Given the description of an element on the screen output the (x, y) to click on. 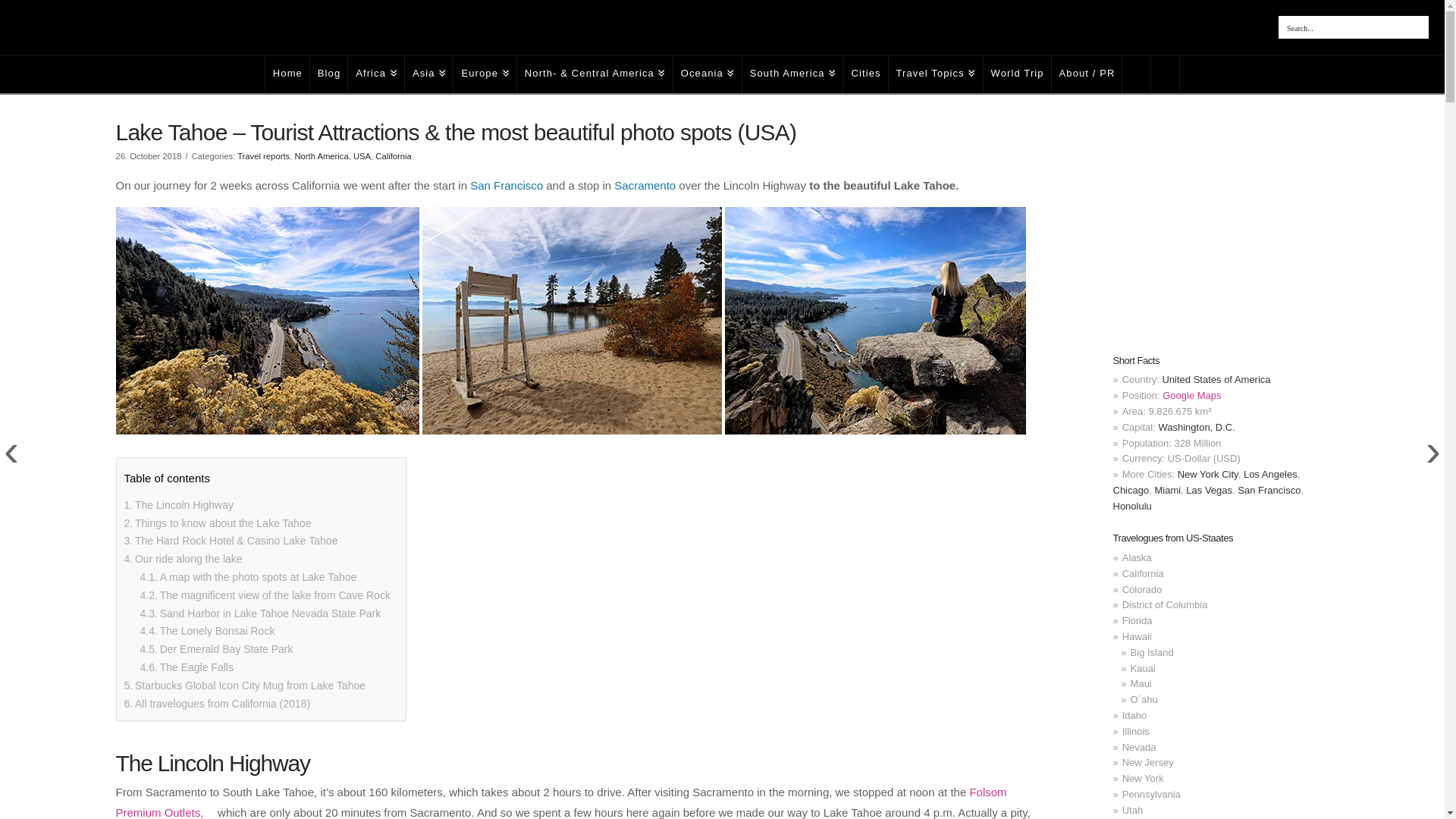
The Lonely Bonsai Rock (207, 631)
Asia (429, 74)
The Eagle Falls (185, 668)
Things to know about the Lake Tahoe (217, 524)
Der Emerald Bay State Park (215, 649)
Our ride along the lake (183, 559)
A map with the photo spots at Lake Tahoe (247, 577)
Starbucks Global Icon City Mug from Lake Tahoe (244, 686)
Home (287, 74)
Europe (484, 74)
The magnificent view of the lake from Cave Rock (264, 596)
Africa (375, 74)
Blog (328, 74)
The Lincoln Highway (177, 505)
Sand Harbor in Lake Tahoe Nevada State Park (259, 614)
